Given the description of an element on the screen output the (x, y) to click on. 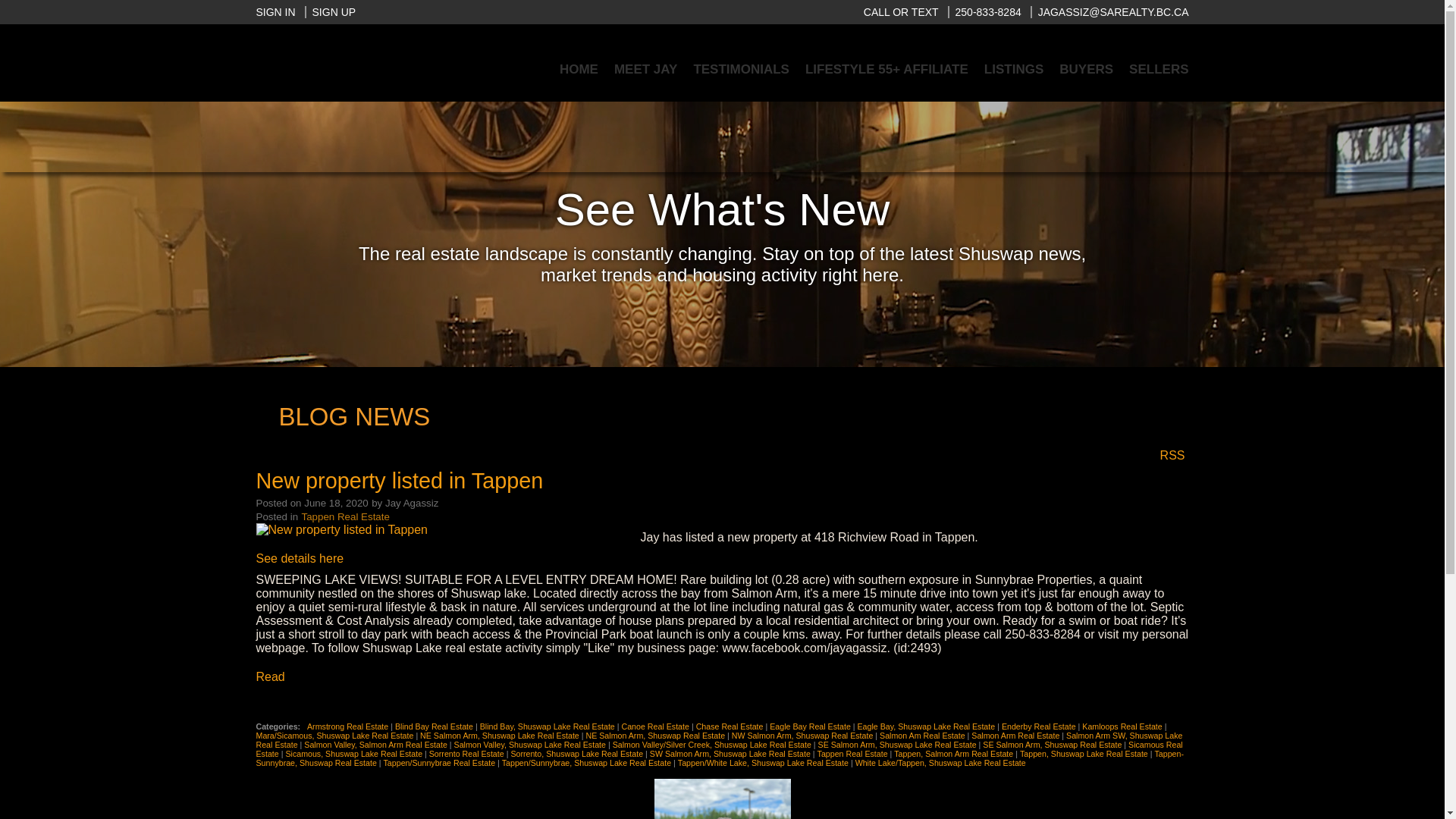
RSS (1172, 454)
TESTIMONIALS (740, 69)
Eagle Bay, Shuswap Lake Real Estate (927, 726)
HOME (578, 69)
Salmon Am Real Estate (923, 735)
Blind Bay Real Estate (435, 726)
SIGN IN (275, 11)
See details here (299, 558)
LISTINGS (1013, 69)
BUYERS (1086, 69)
Salmon Valley, Shuswap Lake Real Estate (531, 744)
Salmon Arm SW, Shuswap Lake Real Estate (719, 740)
Armstrong Real Estate (348, 726)
NE Salmon Arm, Shuswap Lake Real Estate (500, 735)
New property listed in Tappen (399, 481)
